Given the description of an element on the screen output the (x, y) to click on. 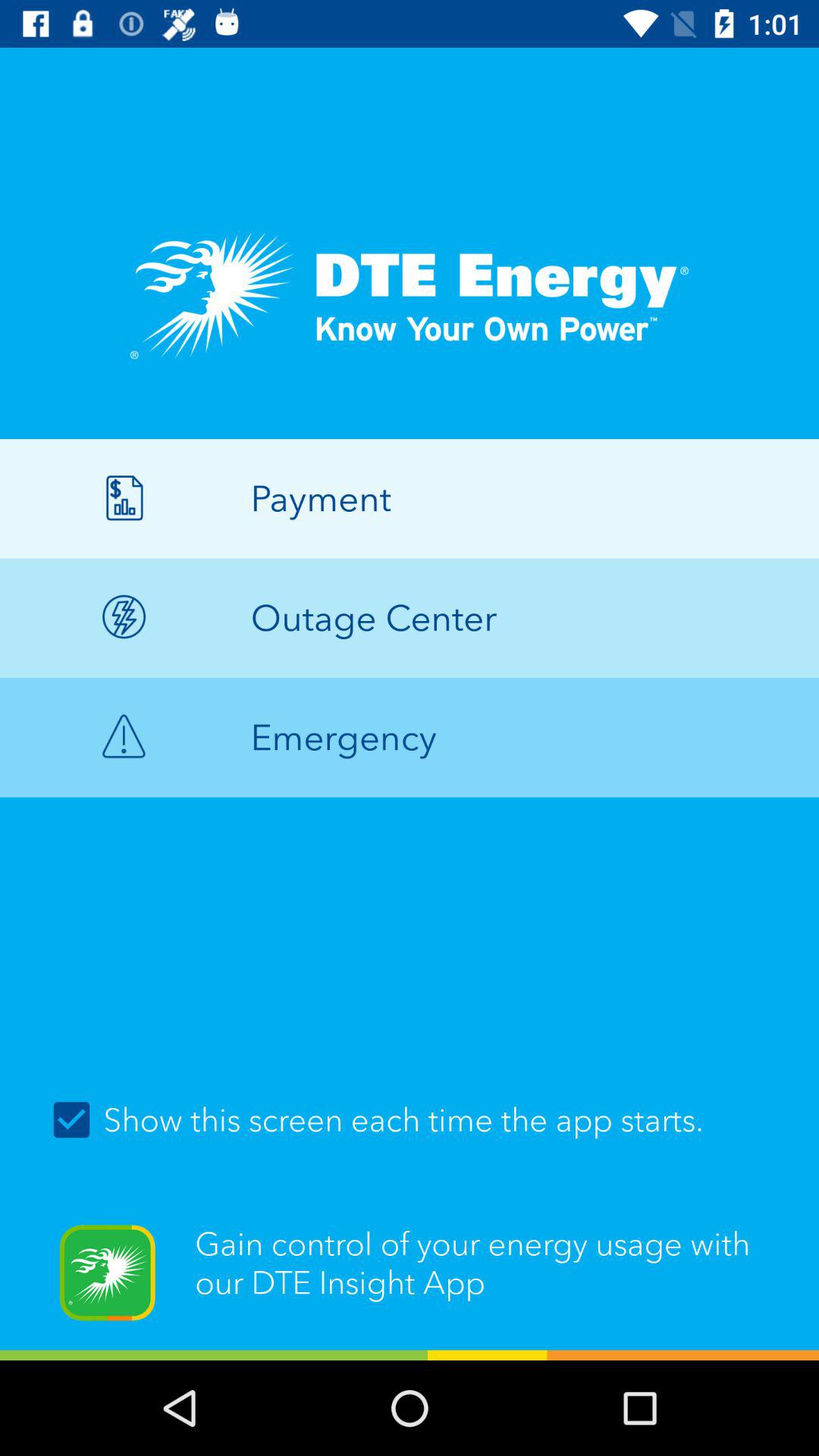
click item above gain control of (409, 1119)
